Given the description of an element on the screen output the (x, y) to click on. 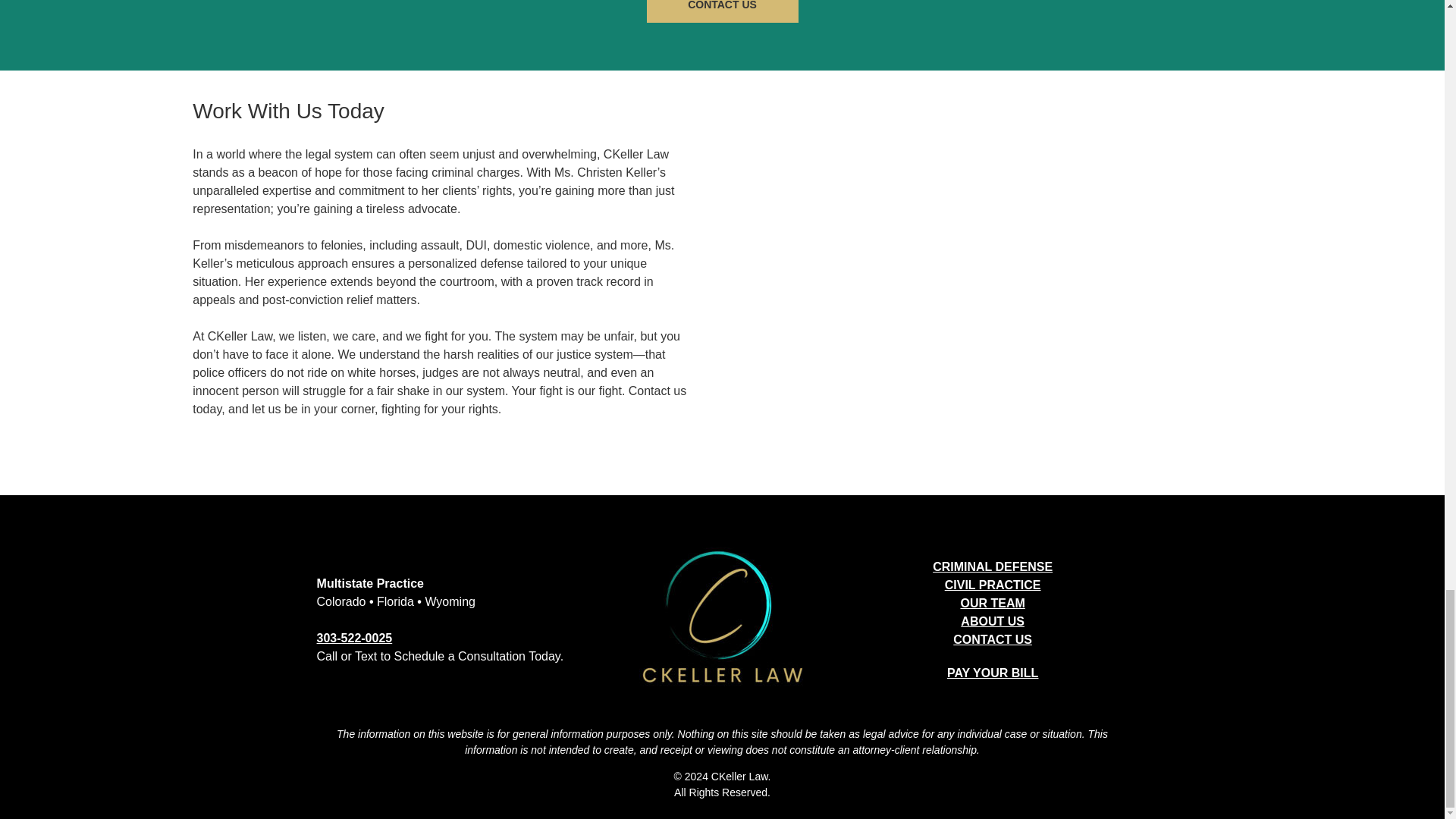
CRIMINAL DEFENSE (992, 566)
CIVIL PRACTICE (992, 584)
CONTACT US (721, 11)
303-522-0025 (355, 637)
OUR TEAM (992, 603)
